Given the description of an element on the screen output the (x, y) to click on. 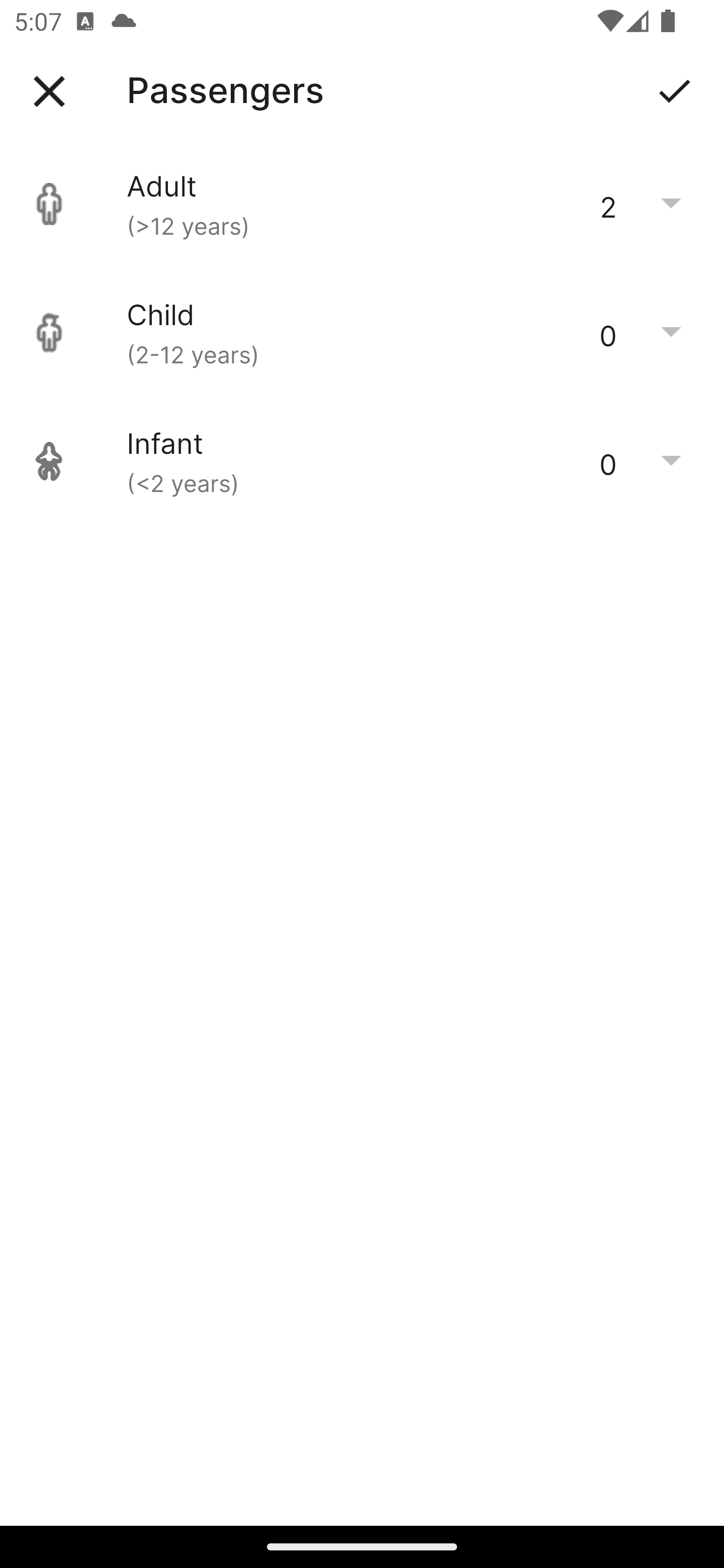
Adult (>12 years) 2 (362, 204)
Child (2-12 years) 0 (362, 332)
Infant (<2 years) 0 (362, 461)
